Given the description of an element on the screen output the (x, y) to click on. 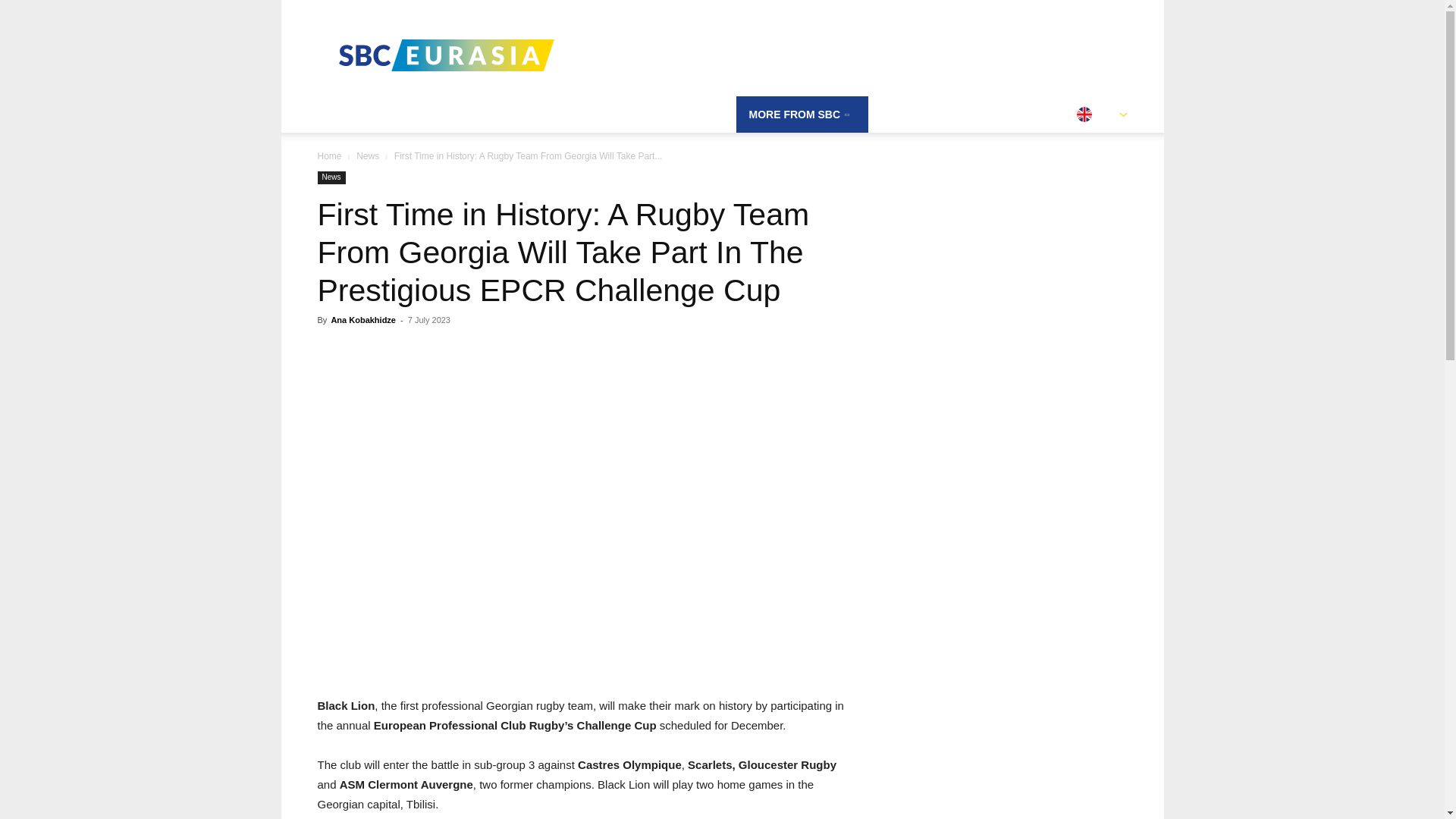
SBC Eurasia (445, 54)
View all posts in News (367, 155)
